Given the description of an element on the screen output the (x, y) to click on. 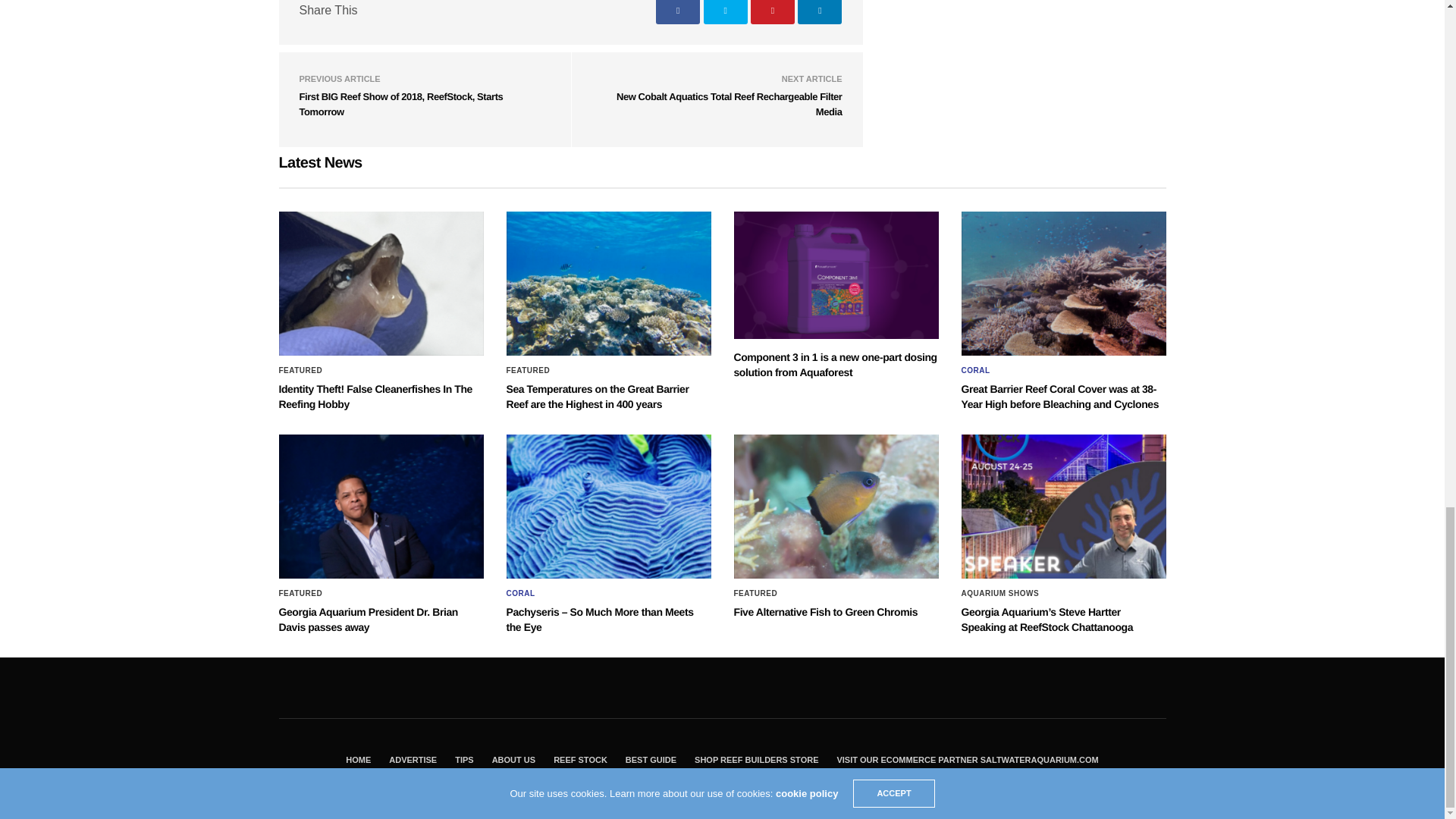
Identity Theft! False Cleanerfishes In The Reefing Hobby (381, 283)
Identity Theft! False Cleanerfishes In The Reefing Hobby (375, 396)
New Cobalt Aquatics Total Reef Rechargeable Filter Media (729, 103)
First BIG Reef Show of 2018, ReefStock, Starts Tomorrow (400, 103)
Featured (301, 370)
